Given the description of an element on the screen output the (x, y) to click on. 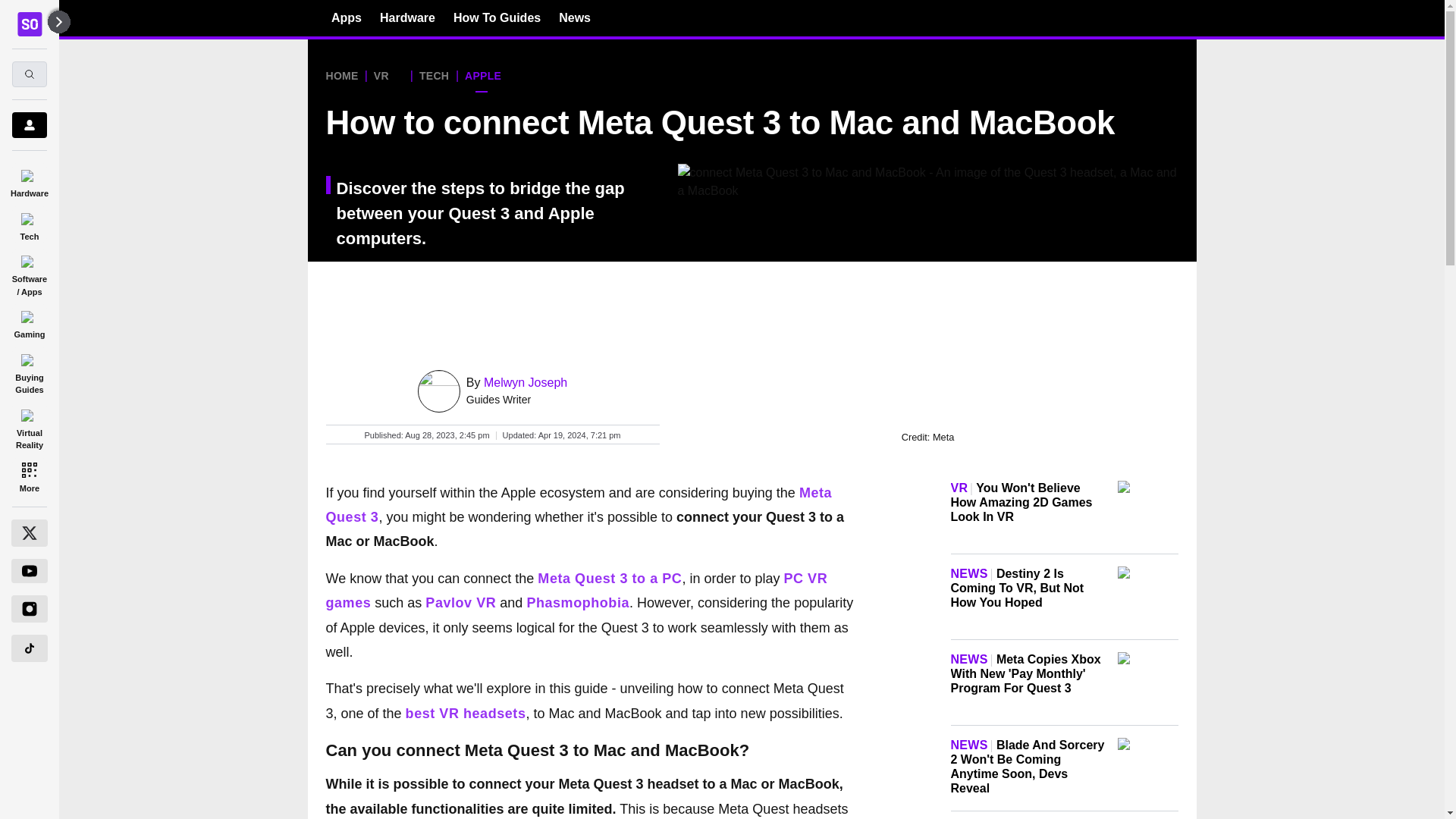
How To Guides (496, 18)
Apps (346, 18)
News (575, 18)
More (28, 476)
Gaming (28, 322)
Hardware (28, 180)
Hardware (407, 18)
Tech (28, 224)
